Given the description of an element on the screen output the (x, y) to click on. 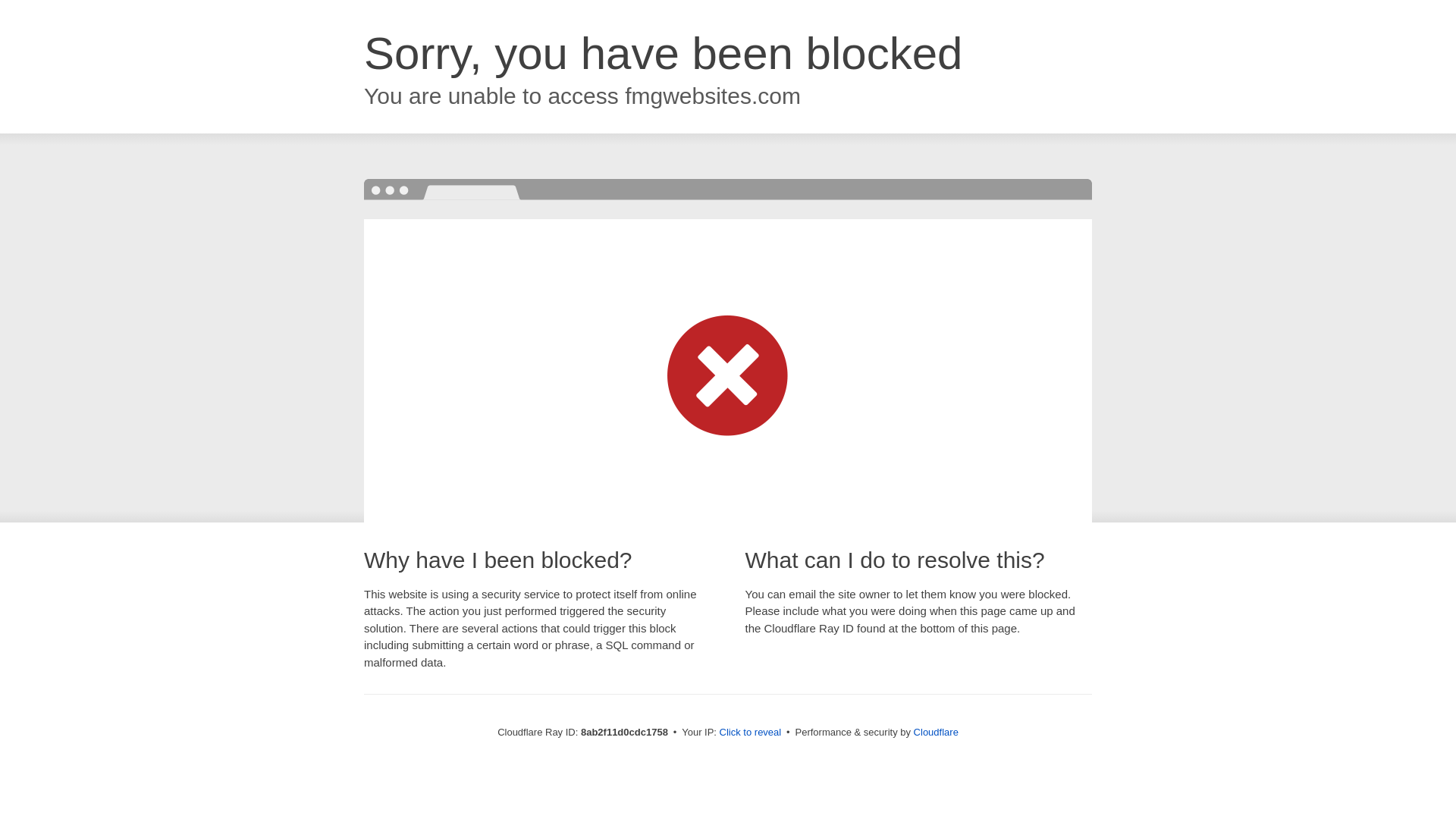
Cloudflare (936, 731)
Click to reveal (750, 732)
